Given the description of an element on the screen output the (x, y) to click on. 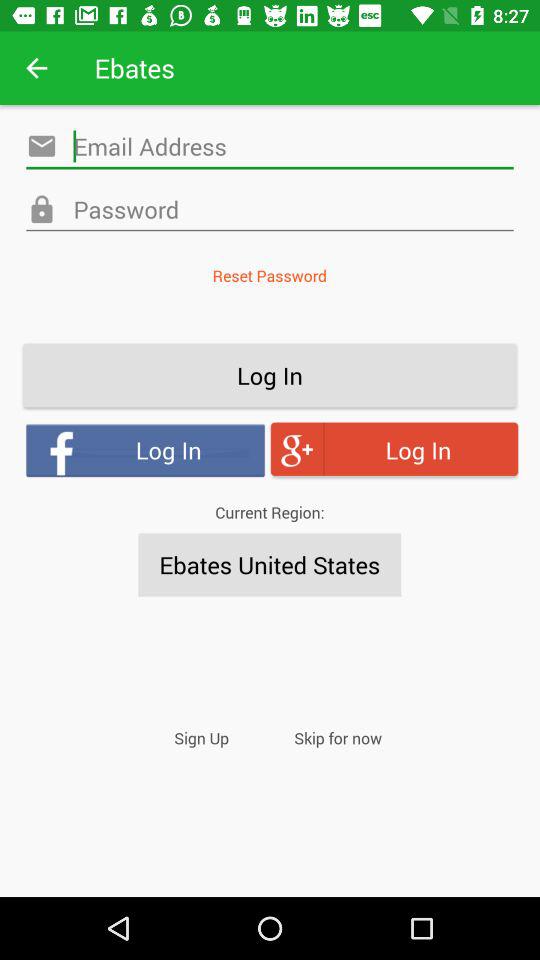
write email (270, 146)
